Given the description of an element on the screen output the (x, y) to click on. 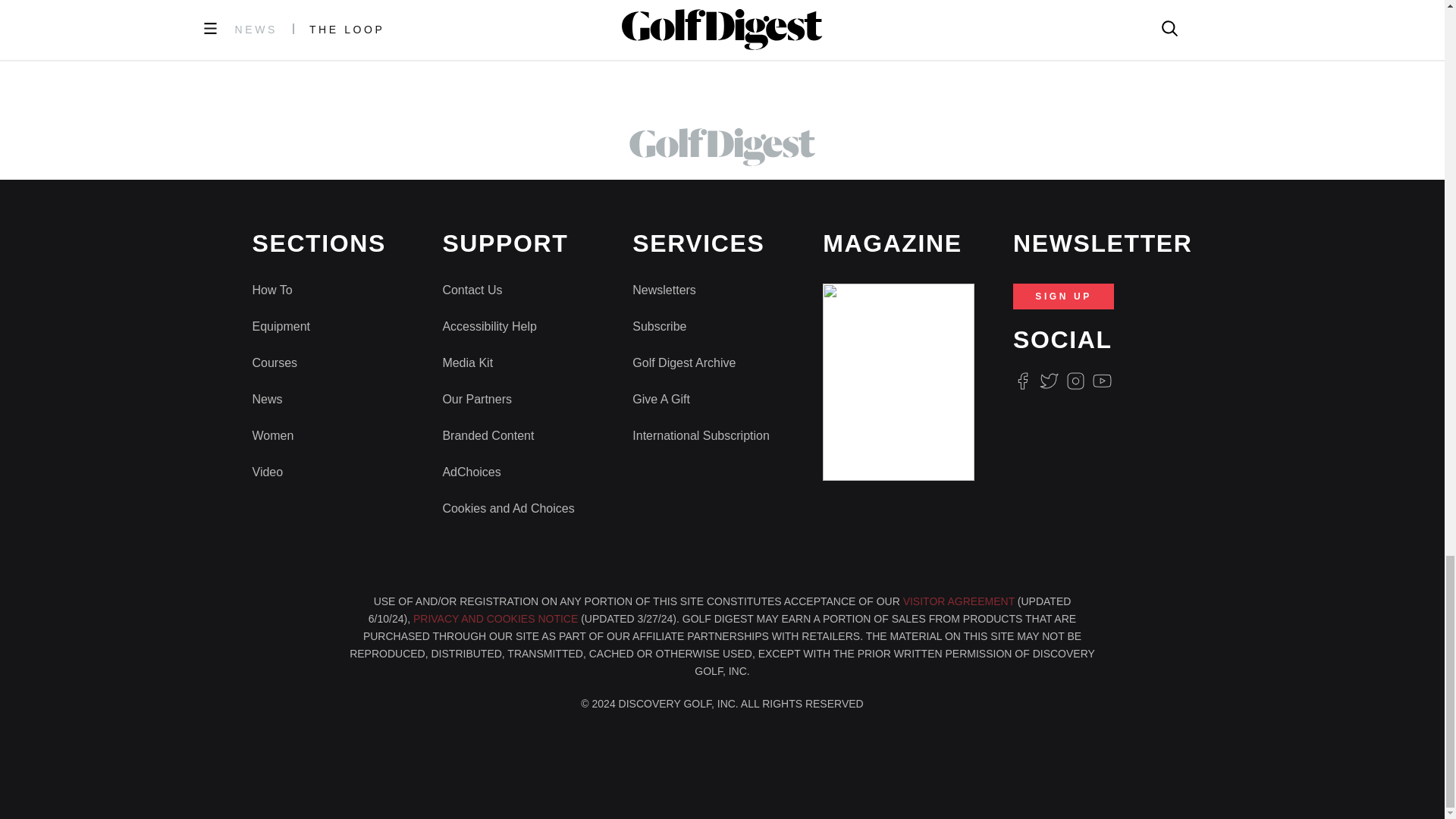
Youtube Icon (1102, 380)
Twitter Logo (1048, 380)
Instagram Logo (1074, 380)
Facebook Logo (1022, 380)
